Given the description of an element on the screen output the (x, y) to click on. 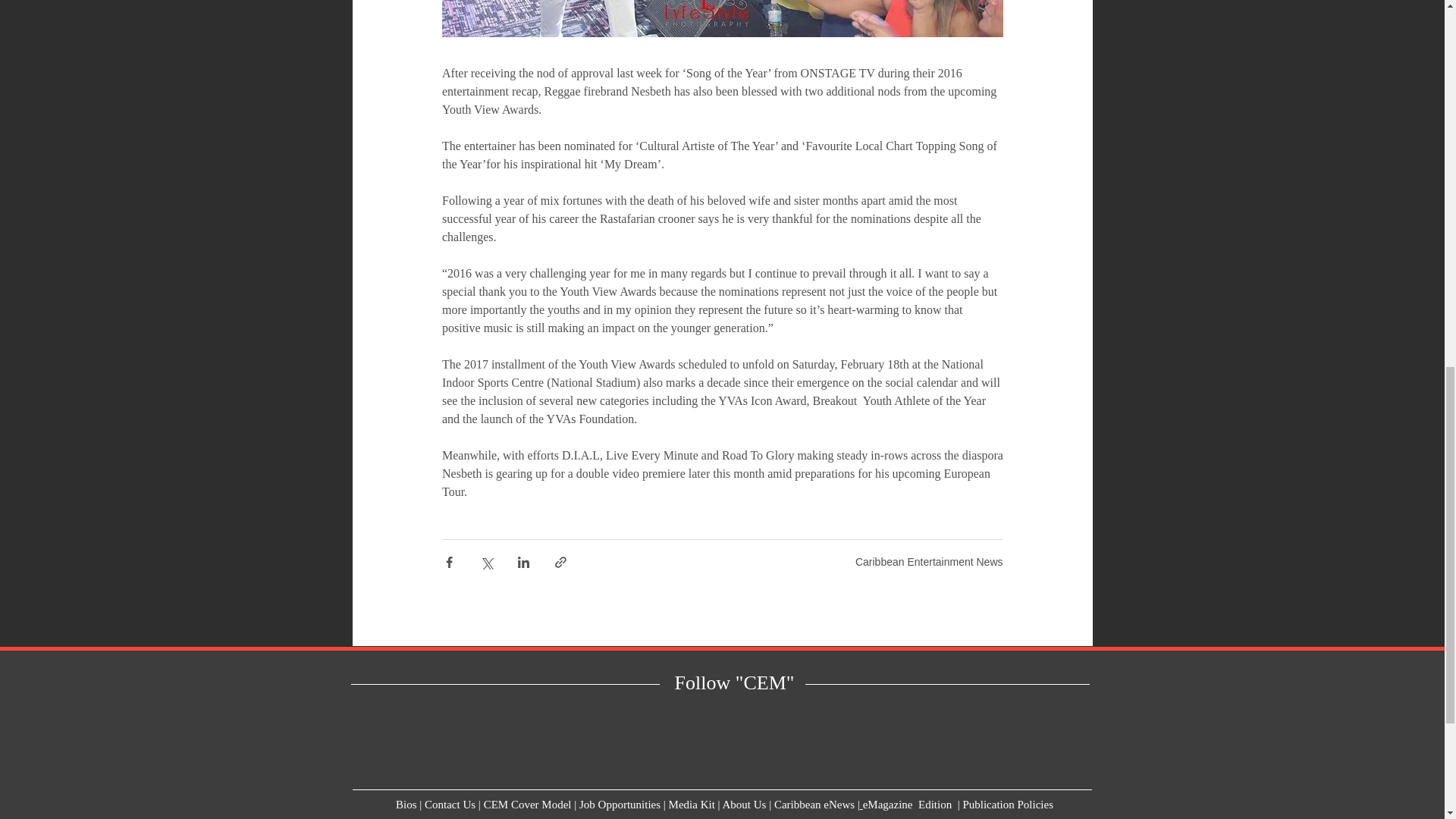
Caribbean Entertainment News (929, 562)
Contact Us (450, 804)
Bios (406, 804)
